Given the description of an element on the screen output the (x, y) to click on. 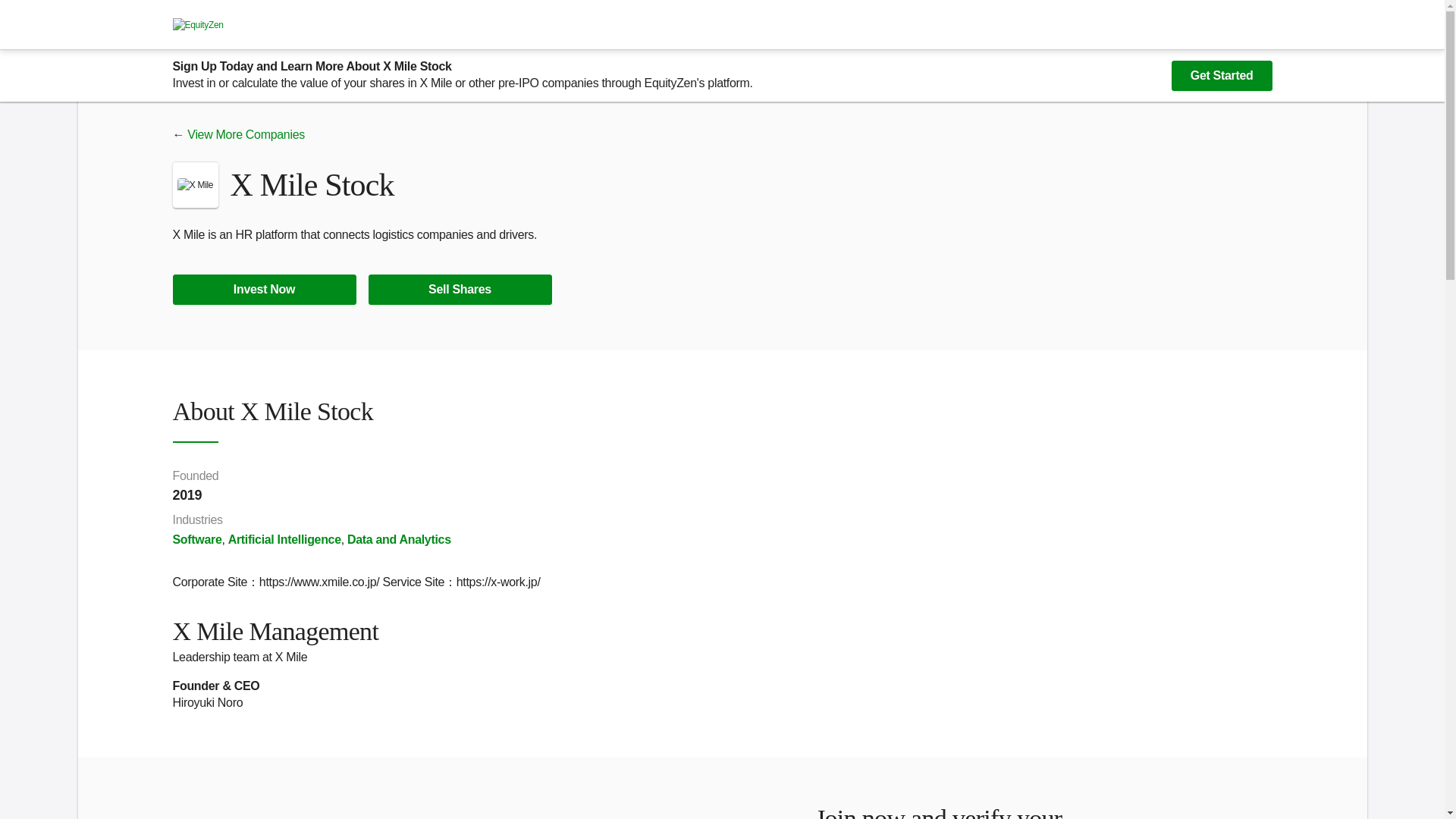
Invest Now (264, 289)
Artificial Intelligence (284, 539)
Software (197, 539)
Get Started (1222, 75)
Sell Shares (459, 289)
Data and Analytics (399, 539)
View More Companies (245, 133)
